Given the description of an element on the screen output the (x, y) to click on. 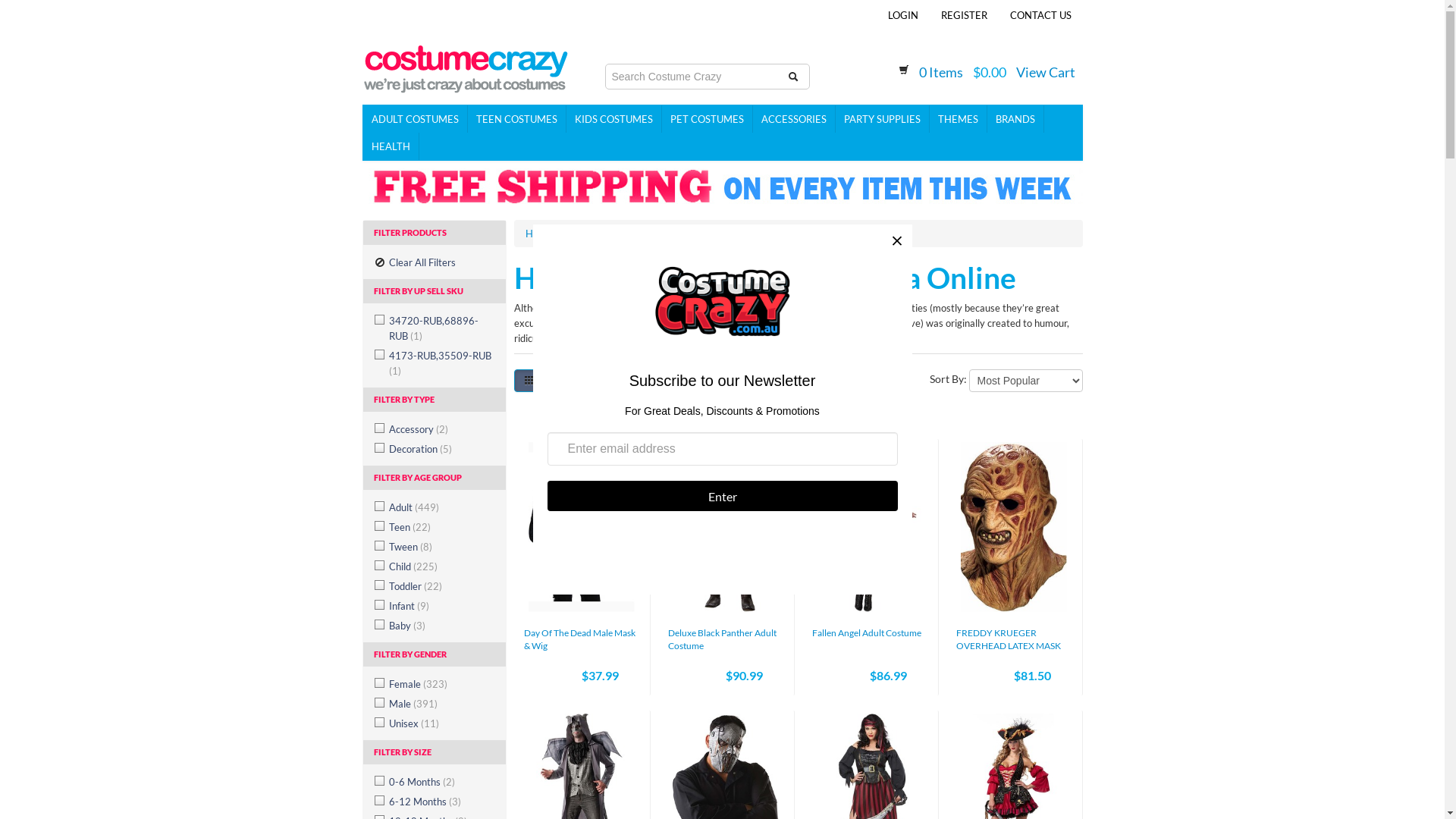
0 Items Element type: text (941, 71)
Tween (8) Element type: text (439, 546)
Accessory (2) Element type: text (439, 429)
BRANDS Element type: text (1015, 118)
THEMES Element type: text (958, 118)
KIDS COSTUMES Element type: text (613, 118)
34720-RUB,68896-RUB (1) Element type: text (439, 327)
Child (225) Element type: text (439, 566)
Day Of The Dead Male Mask & Wig Element type: text (578, 639)
THEMES Element type: text (585, 233)
PARTY SUPPLIES Element type: text (882, 118)
2 Element type: text (800, 380)
Toddler (22) Element type: text (439, 586)
Halloween & Horror Element type: text (662, 233)
Fallen Angel Adult Costume Element type: text (865, 632)
Female (323) Element type: text (439, 683)
4173-RUB,35509-RUB (1) Element type: text (439, 362)
Red Rocket Technology pty ltd Element type: hover (465, 64)
Unisex (11) Element type: text (439, 723)
Decoration (5) Element type: text (439, 448)
0-6 Months (2) Element type: text (439, 781)
1 Element type: text (775, 380)
6-12 Months (3) Element type: text (439, 801)
FREDDY KRUEGER OVERHEAD LATEX MASK Element type: text (1007, 639)
ADULT COSTUMES Element type: text (414, 118)
Adult (449) Element type: text (439, 507)
Infant (9) Element type: text (439, 605)
3 Element type: text (825, 380)
Baby (3) Element type: text (439, 625)
REGISTER Element type: text (963, 15)
TEEN COSTUMES Element type: text (516, 118)
ACCESSORIES Element type: text (793, 118)
Home Element type: text (537, 233)
Search Element type: text (792, 76)
 Read more Element type: text (712, 338)
LOGIN Element type: text (902, 15)
CONTACT US Element type: text (1039, 15)
Male (391) Element type: text (439, 703)
> Element type: text (850, 380)
Teen (22) Element type: text (439, 526)
PET COSTUMES Element type: text (706, 118)
View Cart Element type: text (1045, 71)
Deluxe Black Panther Adult Costume Element type: text (721, 639)
Clear All Filters Element type: text (433, 262)
HEALTH Element type: text (390, 146)
